Given the description of an element on the screen output the (x, y) to click on. 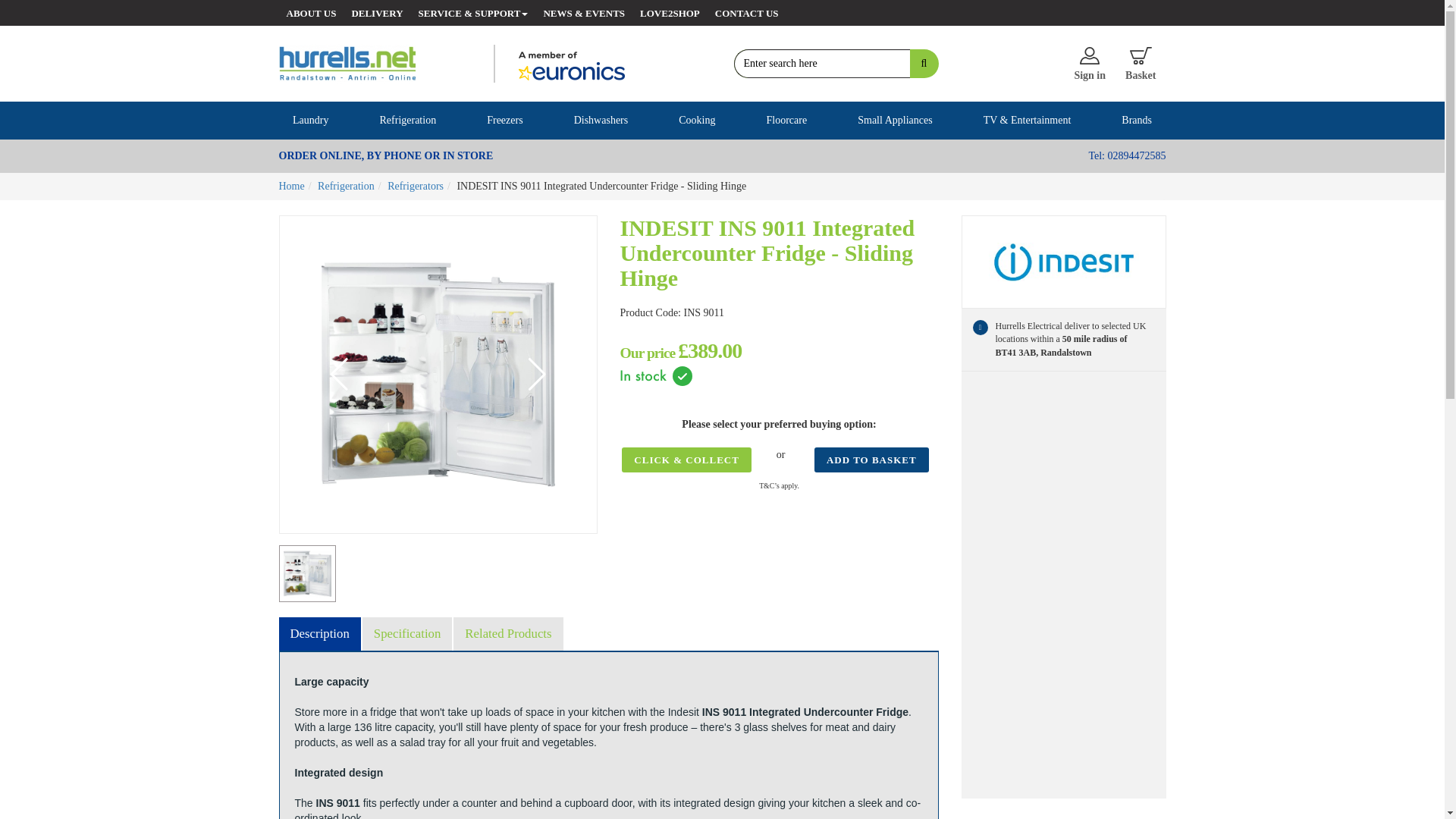
Laundry (309, 120)
Refrigeration (407, 120)
Basket (1140, 63)
Sign in (1089, 63)
ABOUT US (311, 12)
DELIVERY (376, 12)
LOVE2SHOP (669, 12)
Freezers (504, 120)
CONTACT US (746, 12)
